Given the description of an element on the screen output the (x, y) to click on. 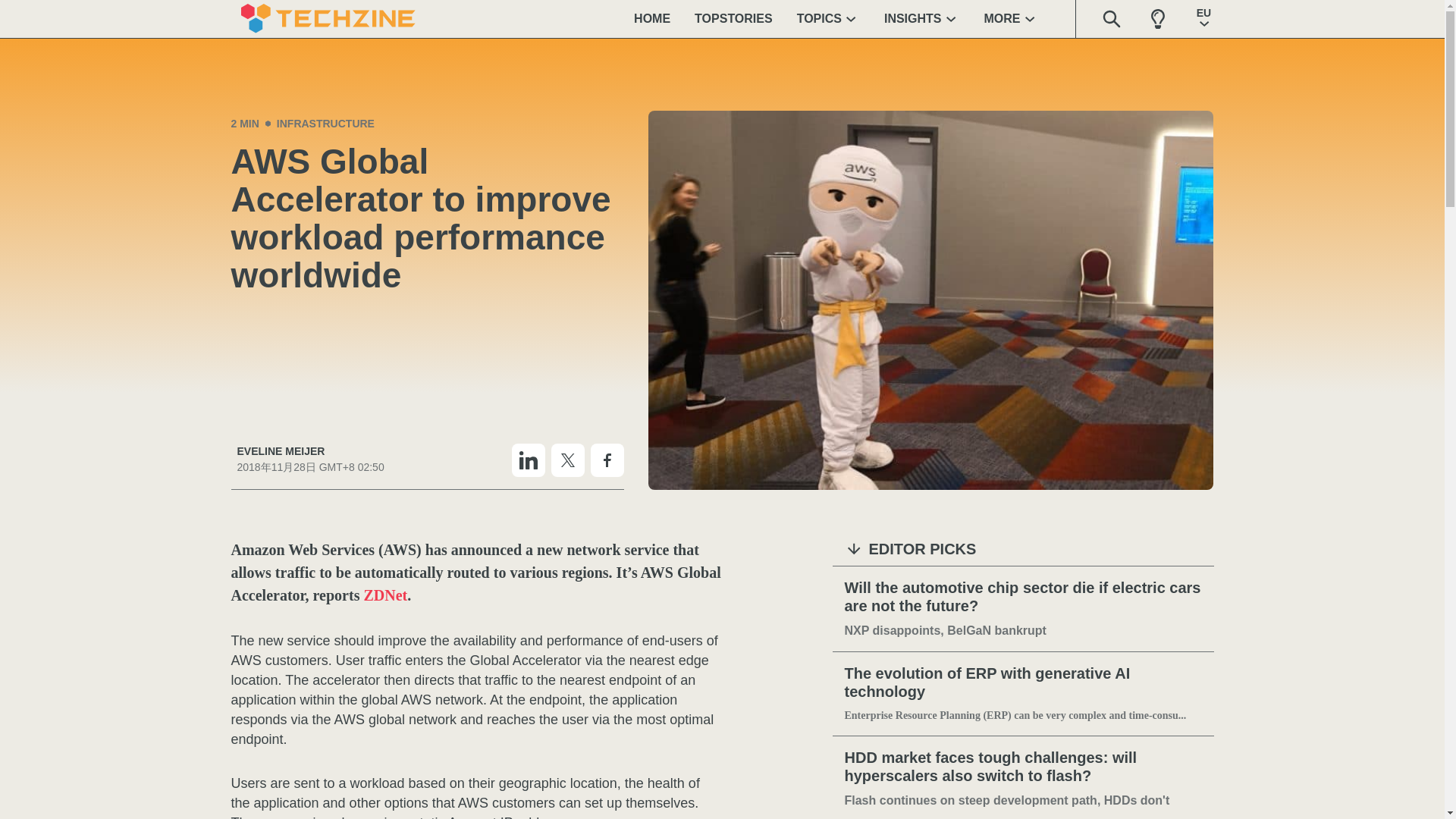
The evolution of ERP with generative AI technology (1023, 682)
TOPICS (828, 18)
INSIGHTS (922, 18)
INFRASTRUCTURE (325, 123)
TOPSTORIES (733, 18)
HOME (651, 18)
MORE (1011, 18)
EVELINE MEIJER (309, 451)
